Given the description of an element on the screen output the (x, y) to click on. 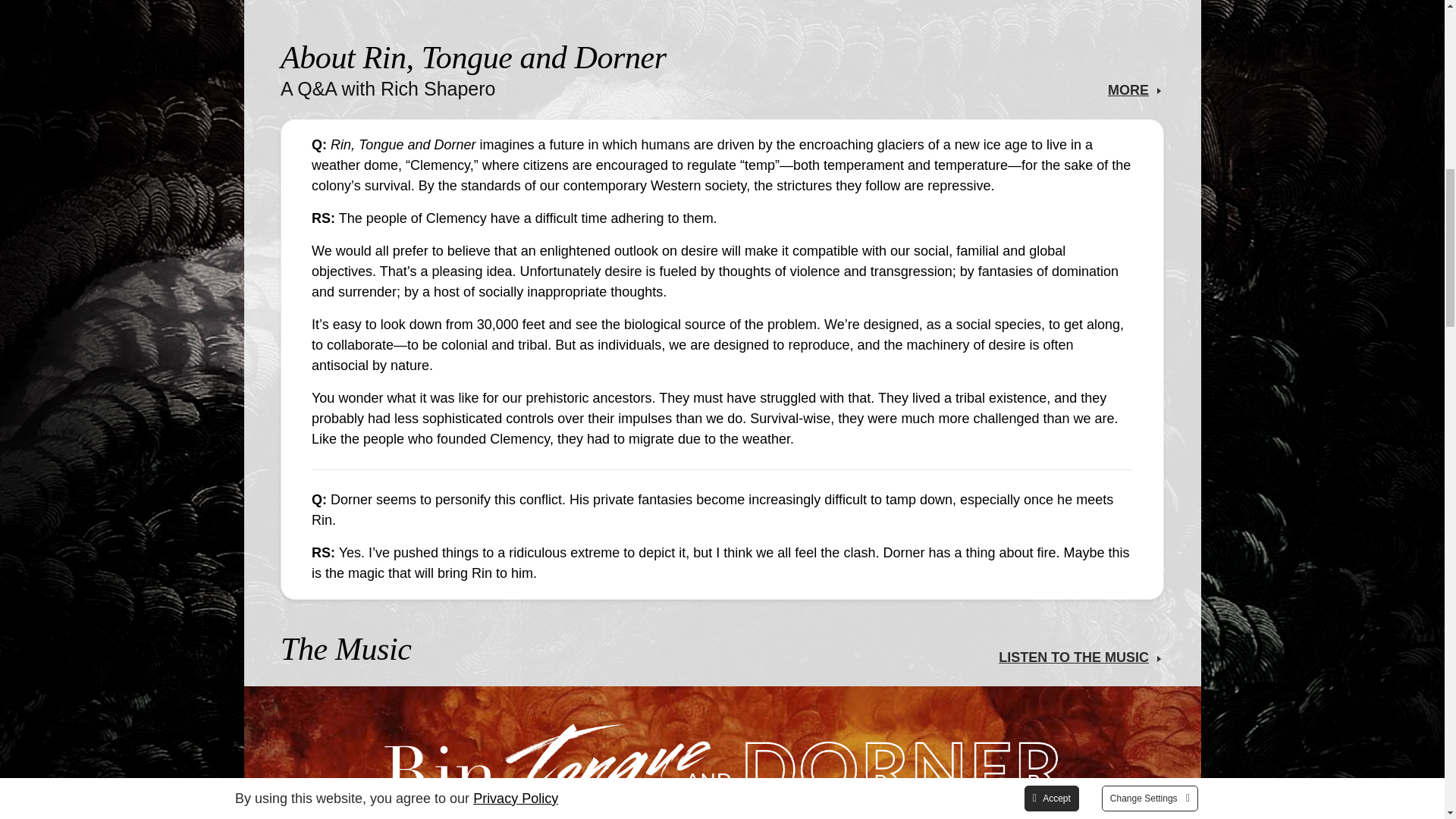
MORE (1128, 89)
LISTEN TO THE MUSIC (1073, 657)
